Given the description of an element on the screen output the (x, y) to click on. 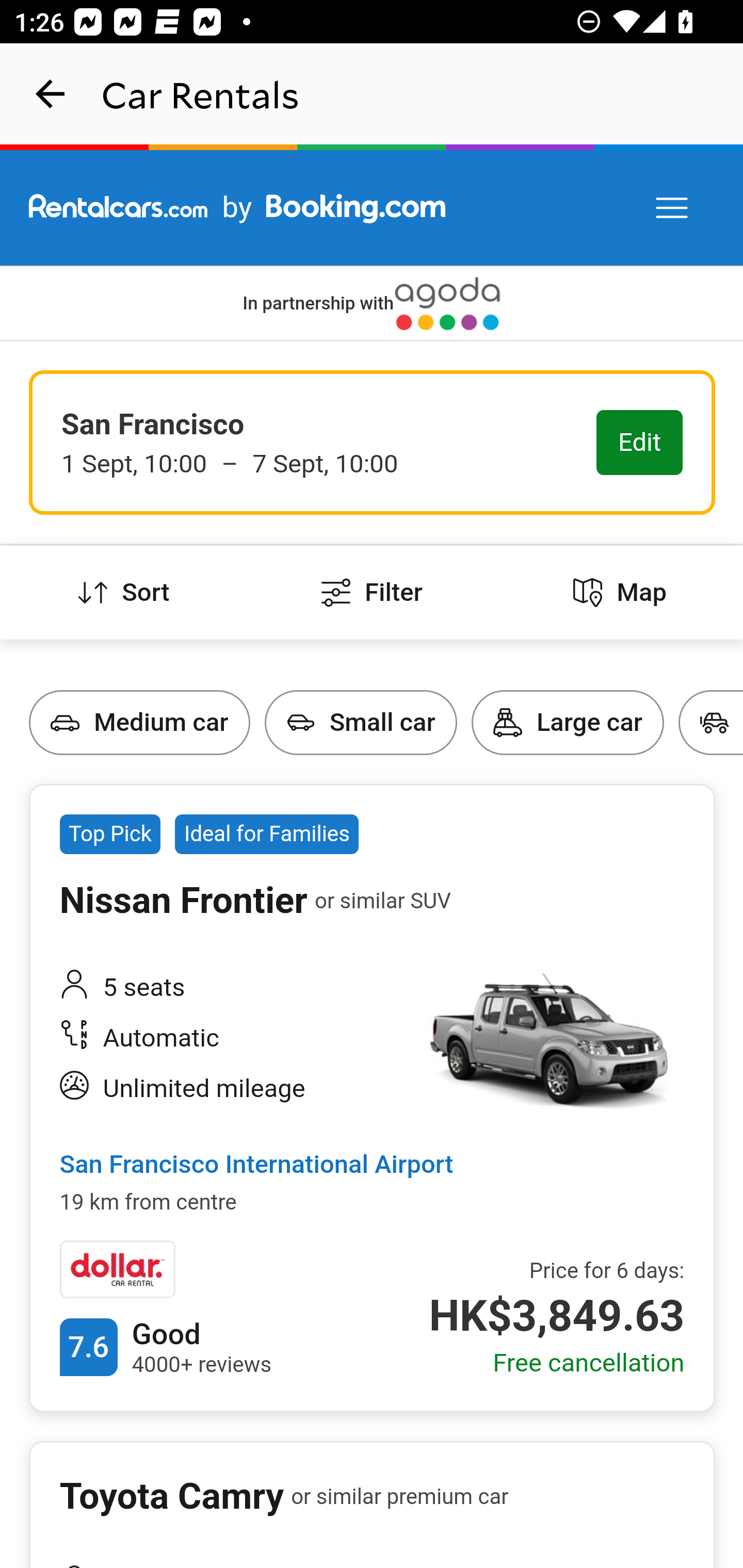
navigation_button (50, 93)
Menu (672, 208)
Edit (639, 443)
Sort (124, 592)
Filter (371, 592)
Show medium cars (30, 689)
Show small cars (265, 689)
Show large cars (471, 689)
5 seats (225, 987)
Automatic (225, 1039)
Unlimited mileage (225, 1088)
San Francisco International Airport (255, 1165)
